Given the description of an element on the screen output the (x, y) to click on. 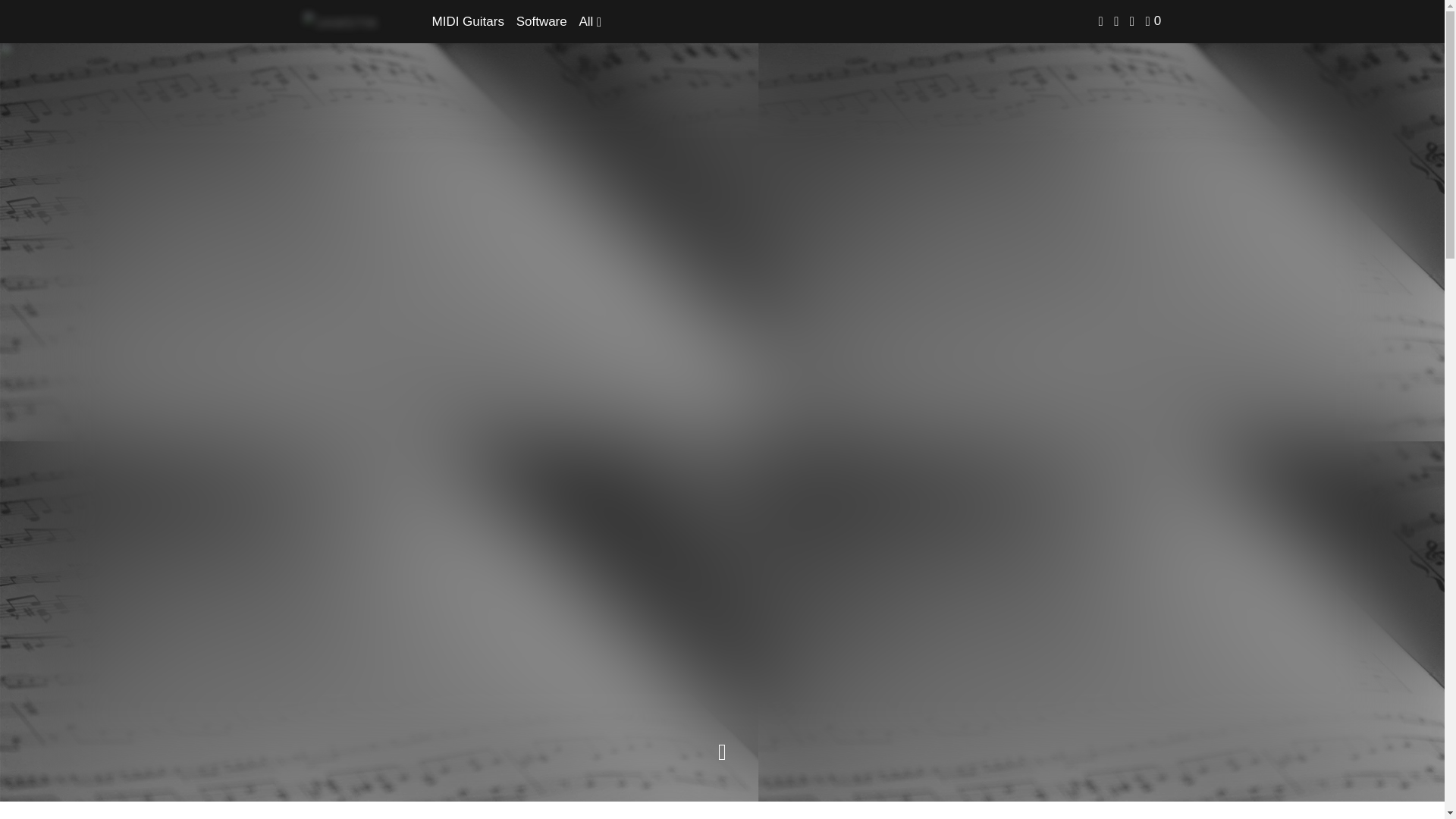
Software (541, 21)
Jamstik (342, 21)
0 (1154, 21)
MIDI Guitars (467, 21)
